Given the description of an element on the screen output the (x, y) to click on. 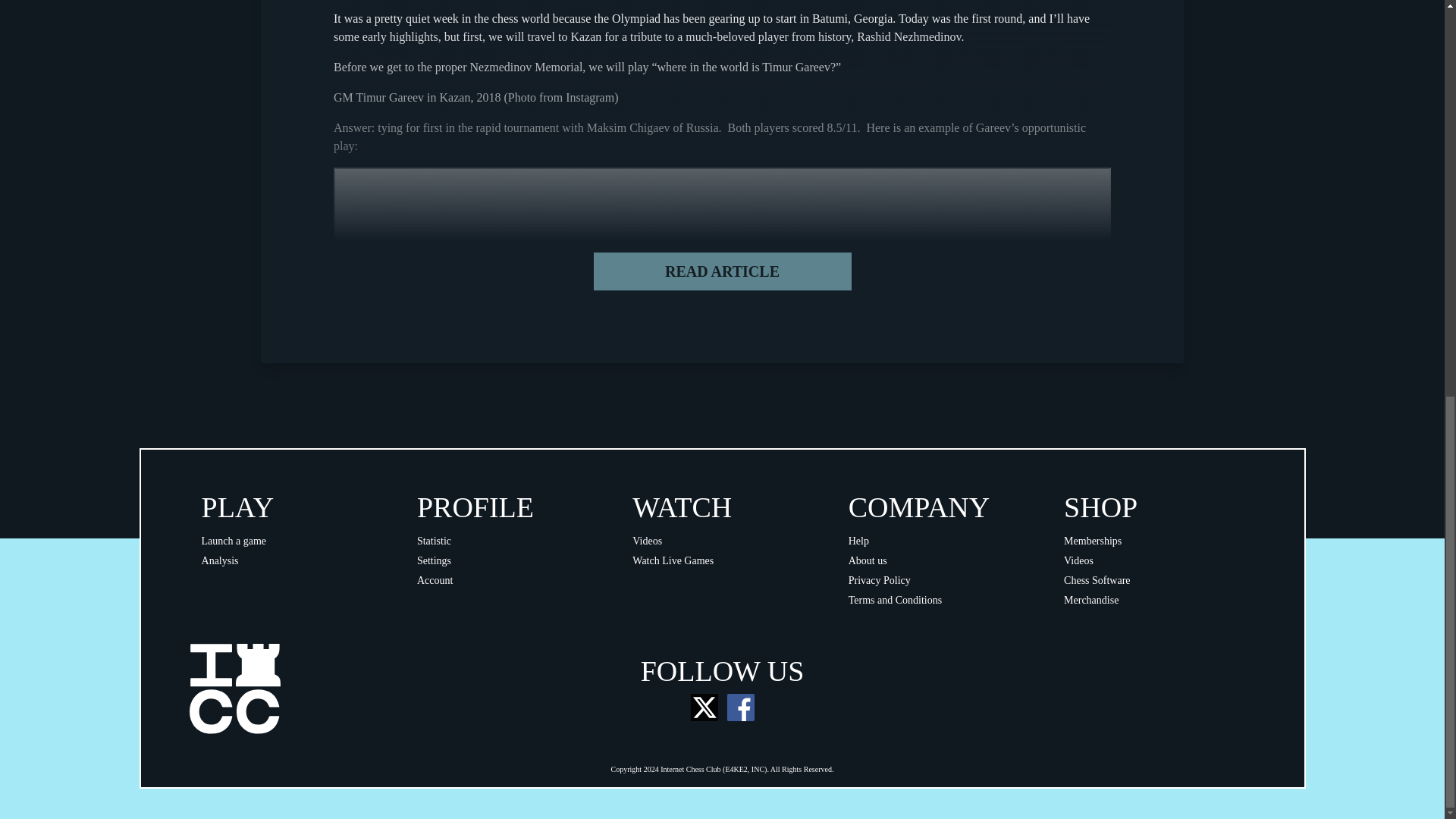
Help (858, 541)
Account (434, 580)
Memberships (1092, 541)
About us (867, 560)
Launch a game (234, 541)
Statistic (433, 541)
Terms and Conditions (895, 600)
Privacy Policy (879, 580)
Watch Live Games (672, 560)
Analysis (220, 560)
Merchandise (1091, 600)
Videos (1078, 560)
Videos (646, 541)
Settings (433, 560)
Chess Software (1097, 580)
